Given the description of an element on the screen output the (x, y) to click on. 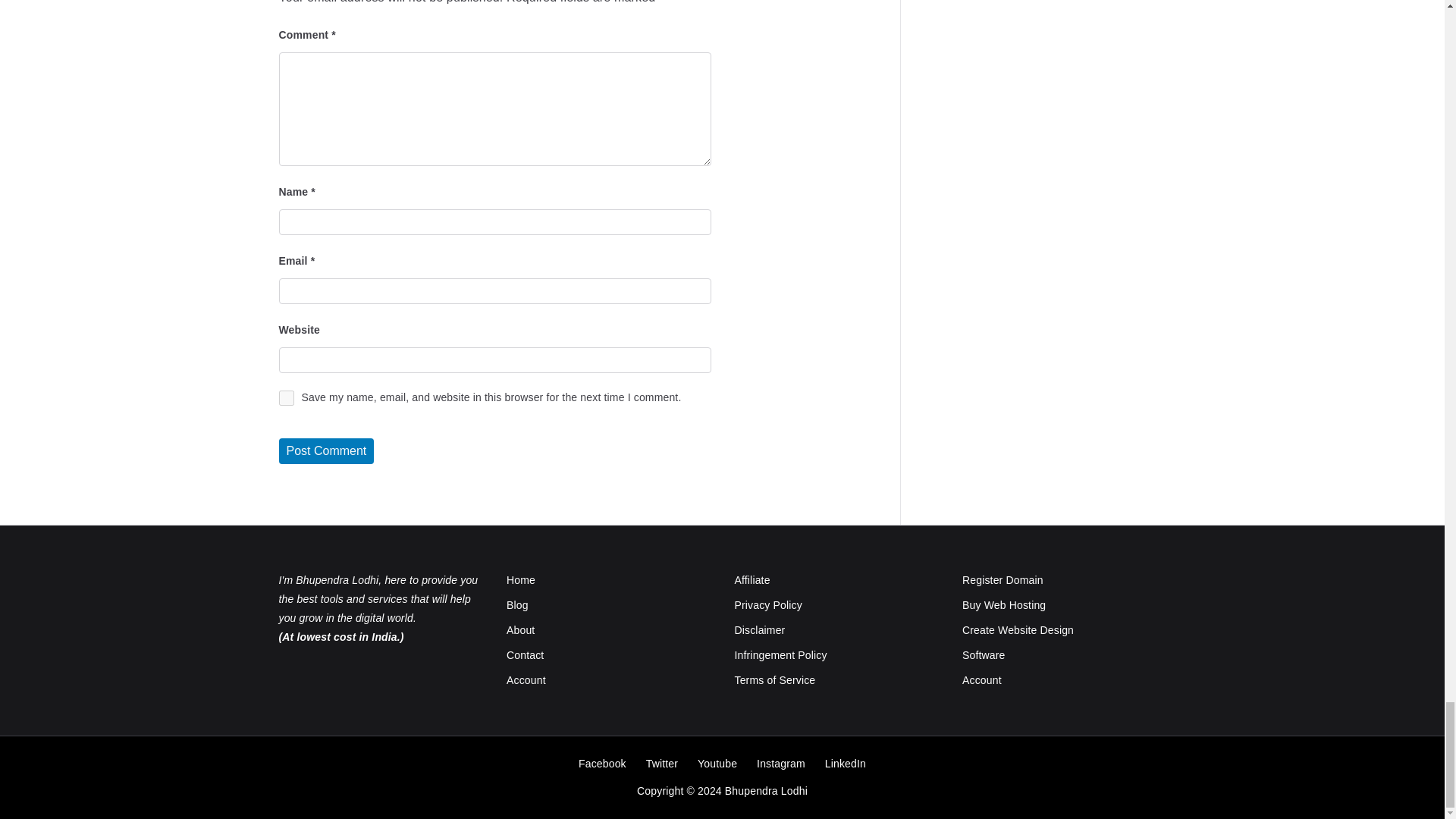
yes (286, 397)
Post Comment (326, 451)
Bhupendra Lodhi (766, 790)
Post Comment (326, 451)
